Given the description of an element on the screen output the (x, y) to click on. 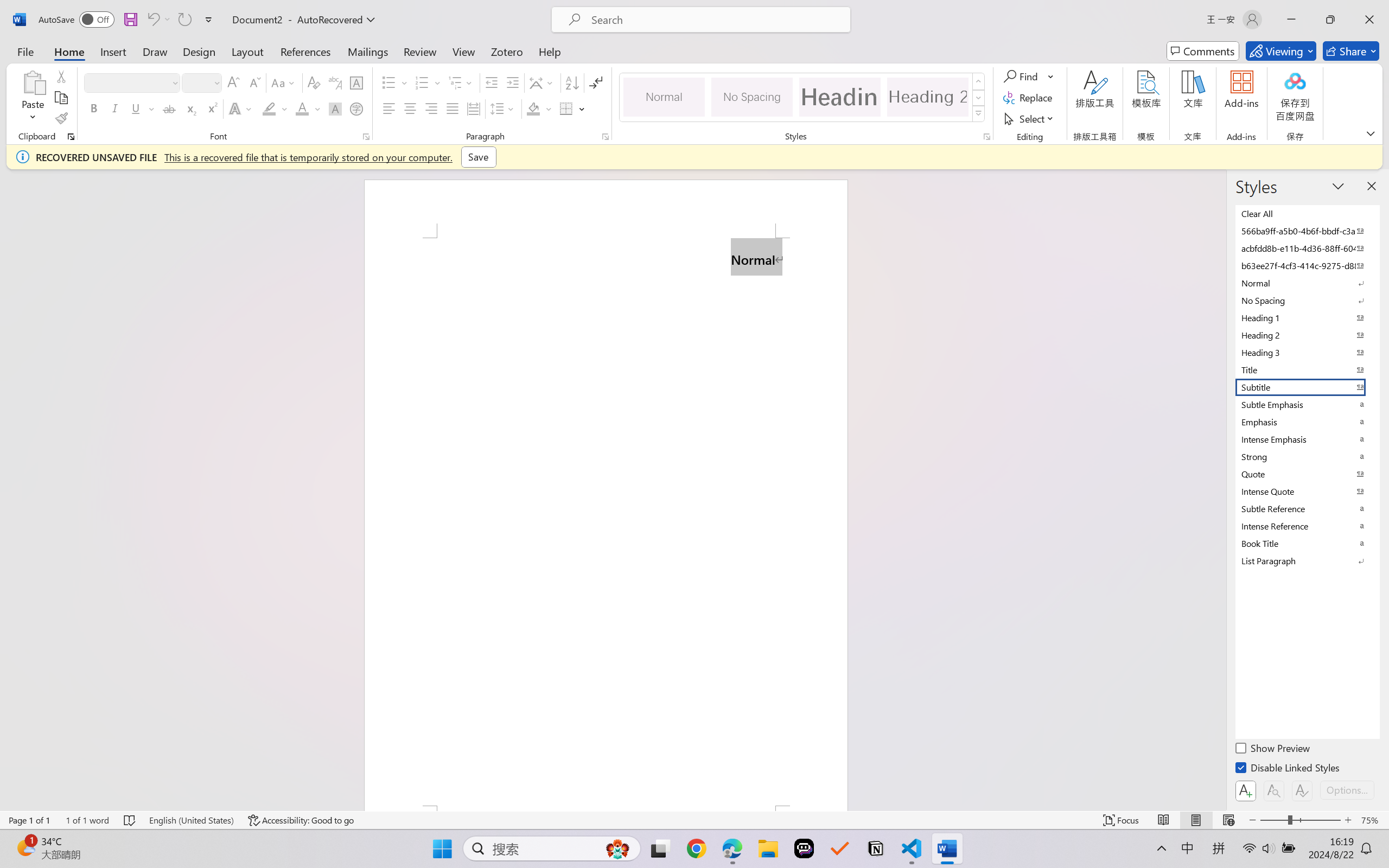
Show Preview (1273, 749)
Styles (978, 113)
Subtle Emphasis (1306, 404)
Book Title (1306, 543)
Intense Quote (1306, 490)
AutomationID: QuickStylesGallery (802, 97)
Page 1 content (605, 521)
Select (1030, 118)
Heading 1 (839, 96)
